Given the description of an element on the screen output the (x, y) to click on. 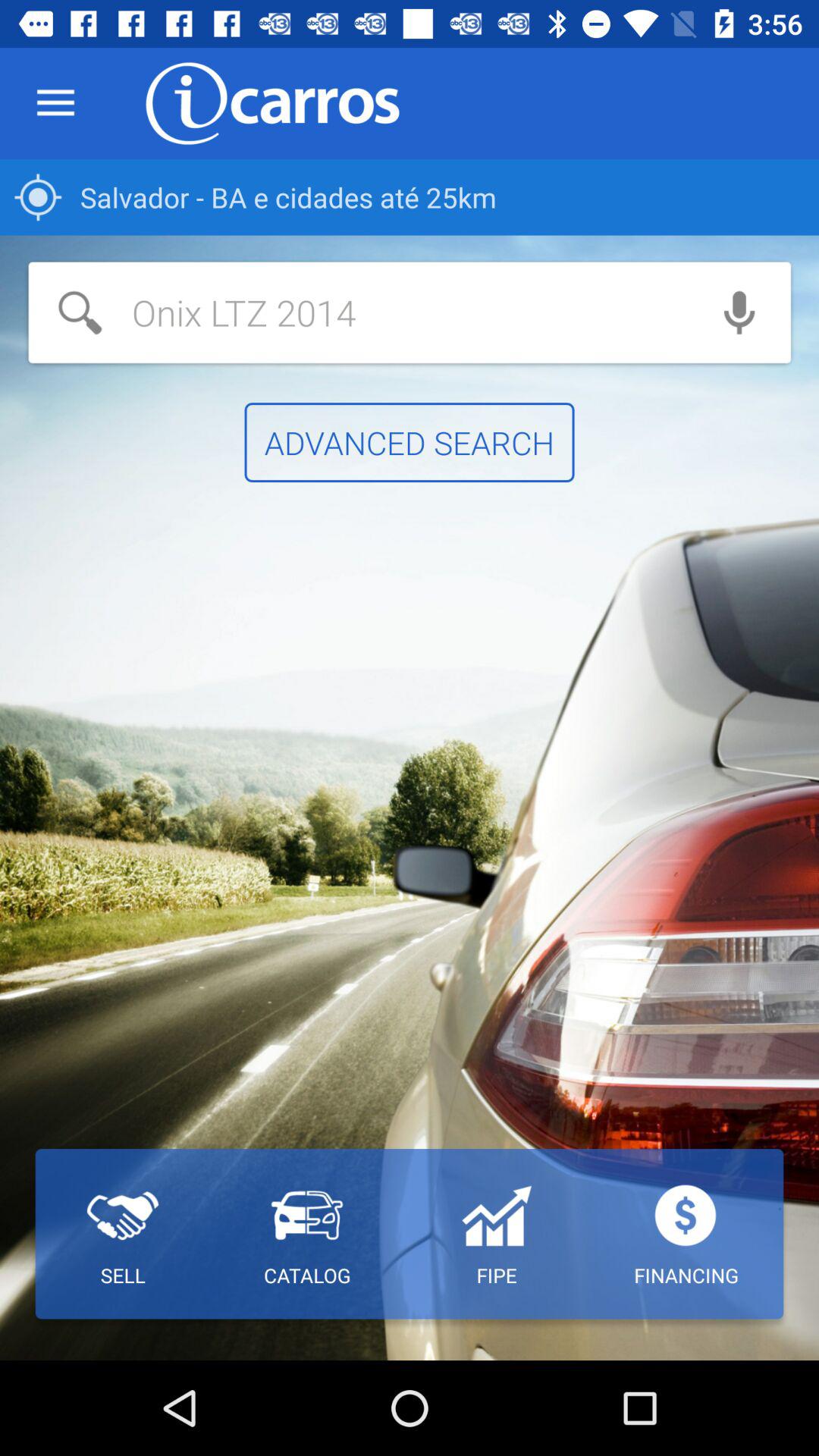
use voice search (739, 312)
